Given the description of an element on the screen output the (x, y) to click on. 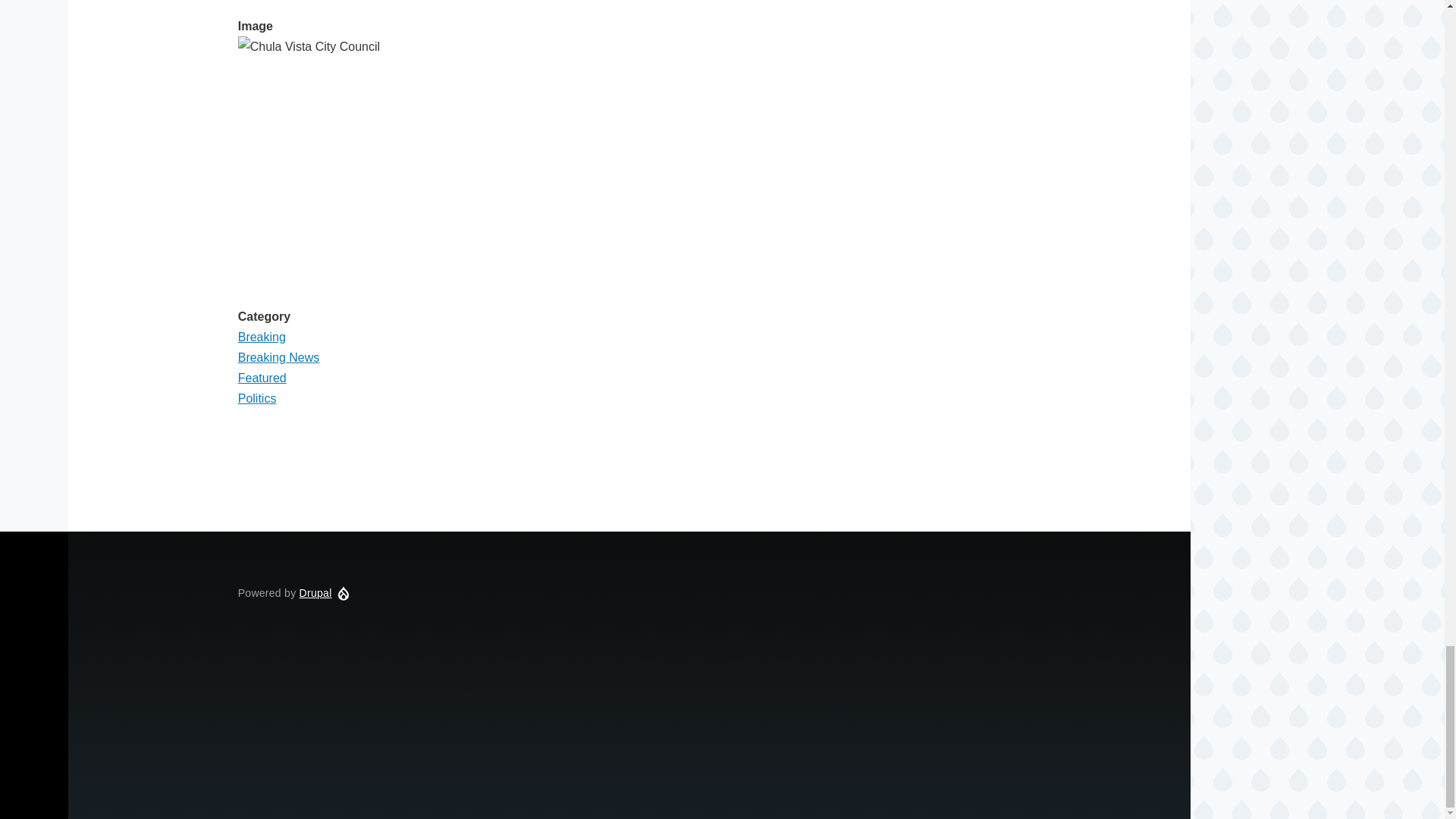
Breaking News (279, 357)
Featured (262, 377)
Drupal (315, 592)
Breaking (261, 336)
Politics (257, 398)
